Given the description of an element on the screen output the (x, y) to click on. 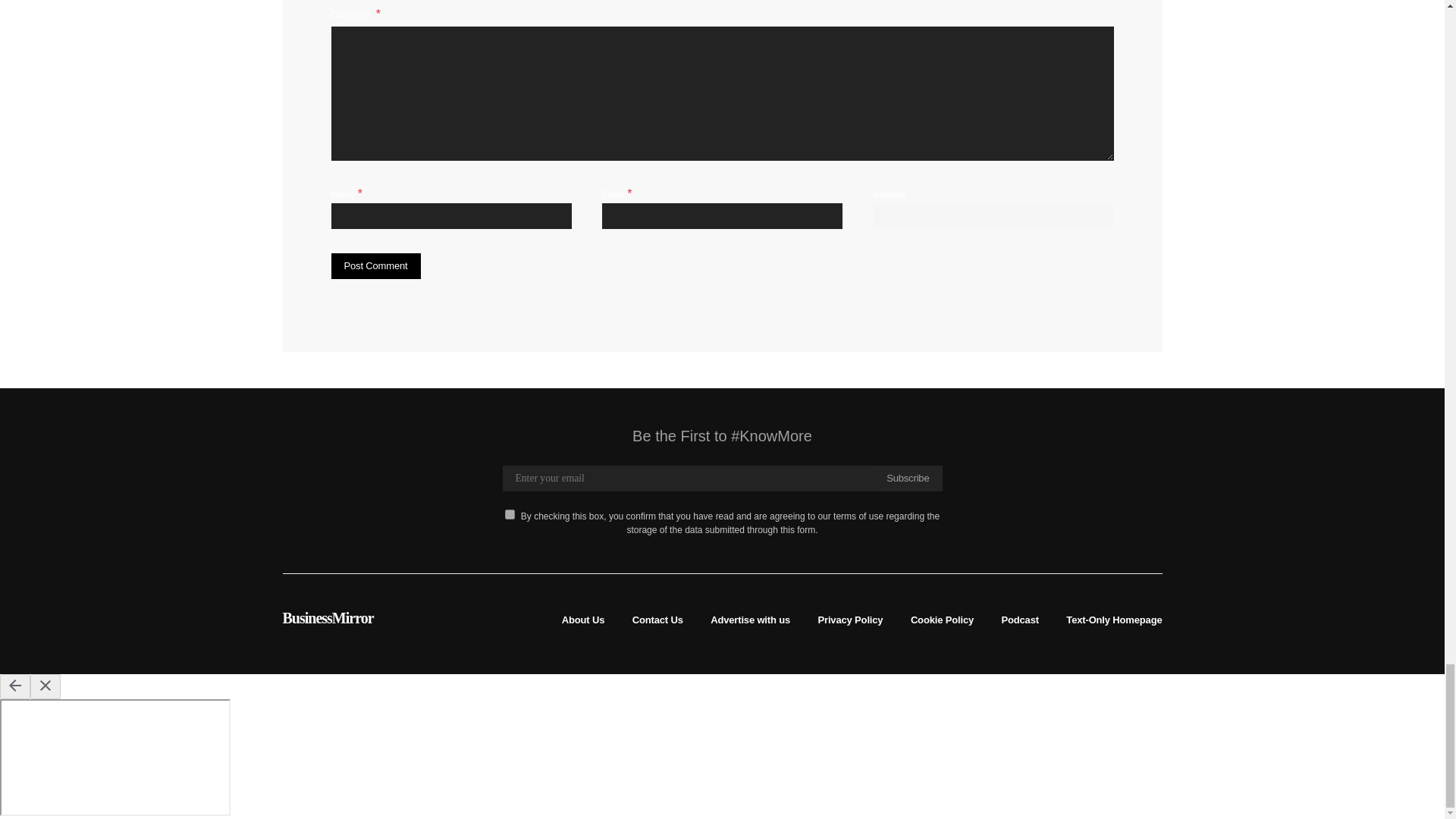
Post Comment (375, 266)
on (510, 514)
